Given the description of an element on the screen output the (x, y) to click on. 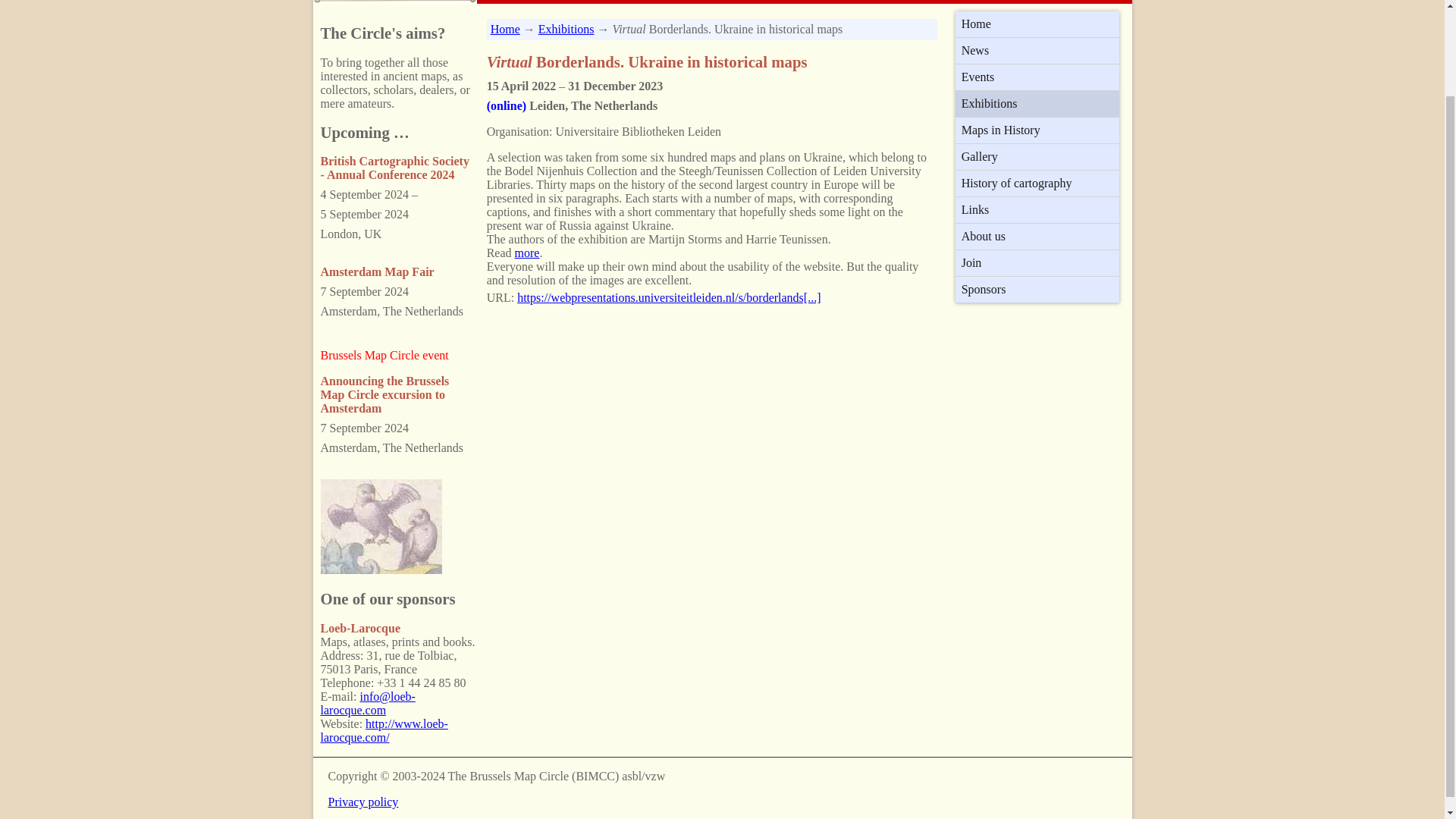
Exhibitions (566, 29)
Privacy policy (362, 801)
Events (1037, 77)
Gallery (1037, 156)
British Cartographic Society - Annual Conference 2024 (394, 167)
Announcing the Brussels Map Circle excursion to Amsterdam (384, 394)
Exhibitions (1037, 103)
Sponsors (1037, 289)
more (527, 252)
Join (1037, 263)
Home (504, 29)
Amsterdam Map Fair (376, 271)
About us (1037, 236)
History of cartography (1037, 183)
Maps in History (1037, 130)
